Given the description of an element on the screen output the (x, y) to click on. 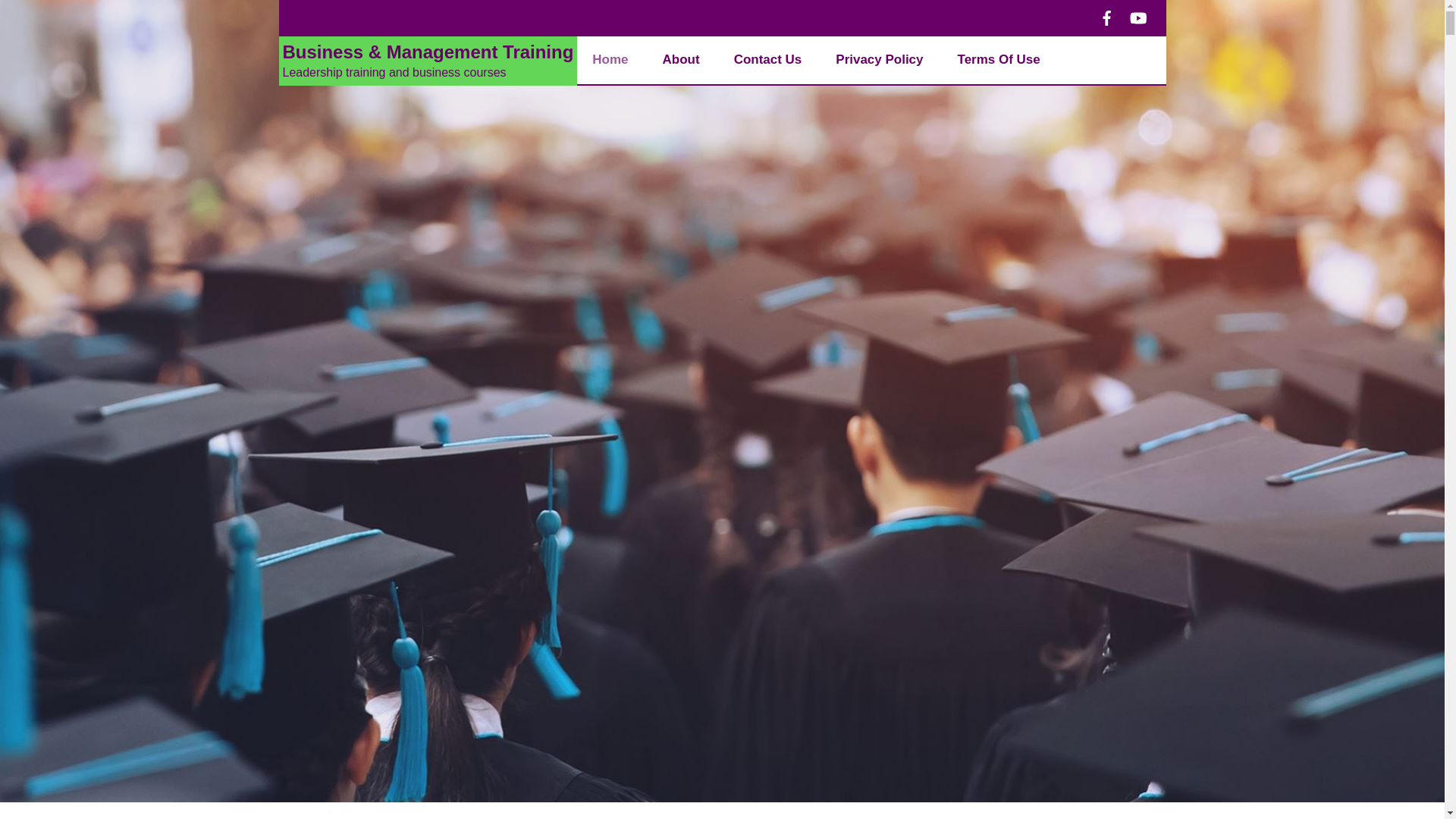
Privacy Policy Element type: text (879, 59)
Contact Us Element type: text (767, 59)
Business & Management Training Element type: text (427, 51)
Home Element type: text (610, 59)
About Element type: text (681, 59)
Terms Of Use Element type: text (998, 59)
